Given the description of an element on the screen output the (x, y) to click on. 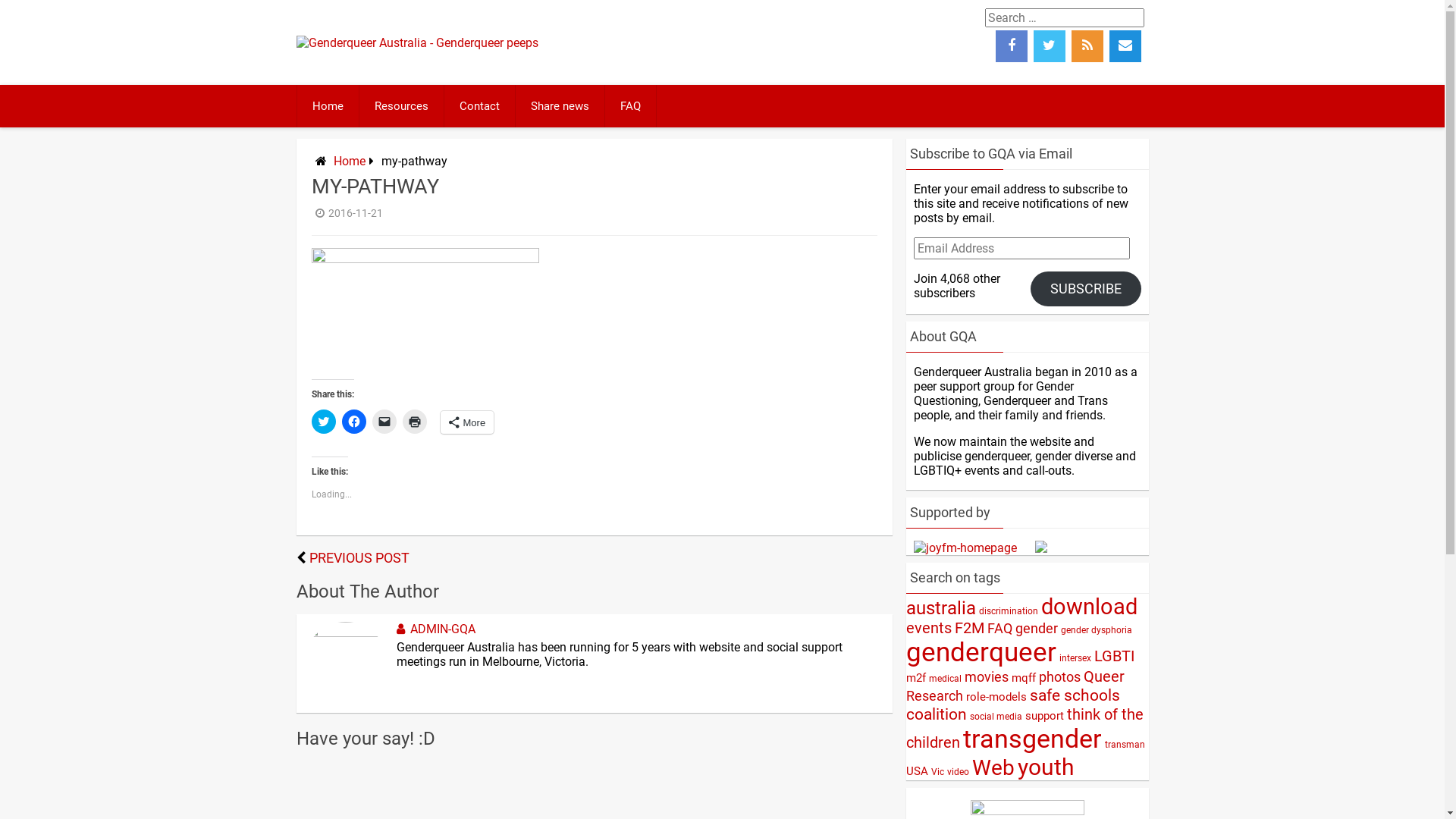
FAQ Element type: text (999, 628)
Twitter Element type: hover (1049, 46)
Queer Element type: text (1102, 676)
Resources Element type: text (401, 105)
Click to share on Twitter (Opens in new window) Element type: text (322, 421)
Contact Element type: text (479, 105)
discrimination Element type: text (1007, 610)
medical Element type: text (944, 678)
ADMIN-GQA Element type: text (433, 628)
Genderqueer Australia Element type: hover (416, 42)
transman Element type: text (1124, 744)
genderqueer Element type: text (980, 652)
intersex Element type: text (1074, 657)
Email Element type: hover (1125, 46)
movies Element type: text (986, 676)
RSS Element type: hover (1087, 46)
download Element type: text (1088, 606)
Research Element type: text (933, 695)
events Element type: text (927, 628)
PREVIOUS POST Element type: text (359, 557)
photos Element type: text (1059, 676)
m2f Element type: text (915, 677)
Share news Element type: text (559, 105)
More Element type: text (466, 422)
Click to print (Opens in new window) Element type: text (413, 421)
F2M Element type: text (968, 628)
think of the children Element type: text (1023, 728)
joyfm-homepage Element type: hover (964, 547)
safe schools coalition Element type: text (1012, 704)
LGBTI Element type: text (1113, 656)
SUBSCRIBE Element type: text (1085, 288)
Click to share on Facebook (Opens in new window) Element type: text (353, 421)
social media Element type: text (995, 716)
gender dysphoria Element type: text (1095, 629)
mqff Element type: text (1023, 677)
Home Element type: text (349, 160)
support Element type: text (1044, 715)
FAQ Element type: text (630, 105)
australia Element type: text (940, 607)
transgender Element type: text (1032, 738)
video Element type: text (957, 771)
Vic Element type: text (937, 771)
youth Element type: text (1045, 766)
Home Element type: text (327, 105)
role-models Element type: text (996, 696)
gender Element type: text (1035, 628)
Search for: Element type: hover (1064, 17)
Facebook Element type: hover (1011, 46)
USA Element type: text (916, 771)
Click to email a link to a friend (Opens in new window) Element type: text (383, 421)
Web Element type: text (993, 767)
